Given the description of an element on the screen output the (x, y) to click on. 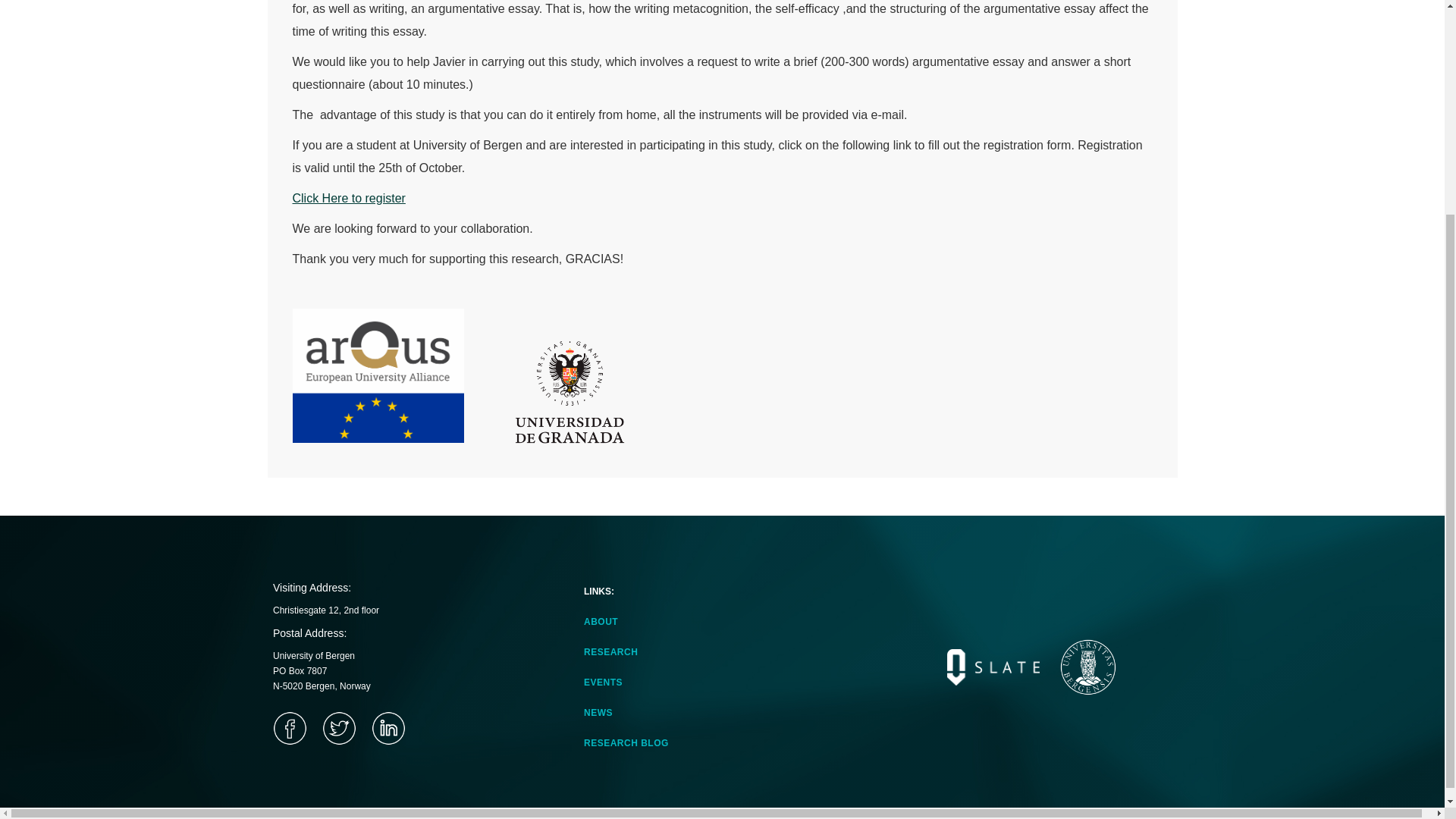
ABOUT (632, 621)
EVENTS (632, 681)
NEWS (632, 712)
LINKS: (629, 590)
Click Here to register (349, 197)
RESEARCH (632, 651)
RESEARCH BLOG (632, 743)
